Given the description of an element on the screen output the (x, y) to click on. 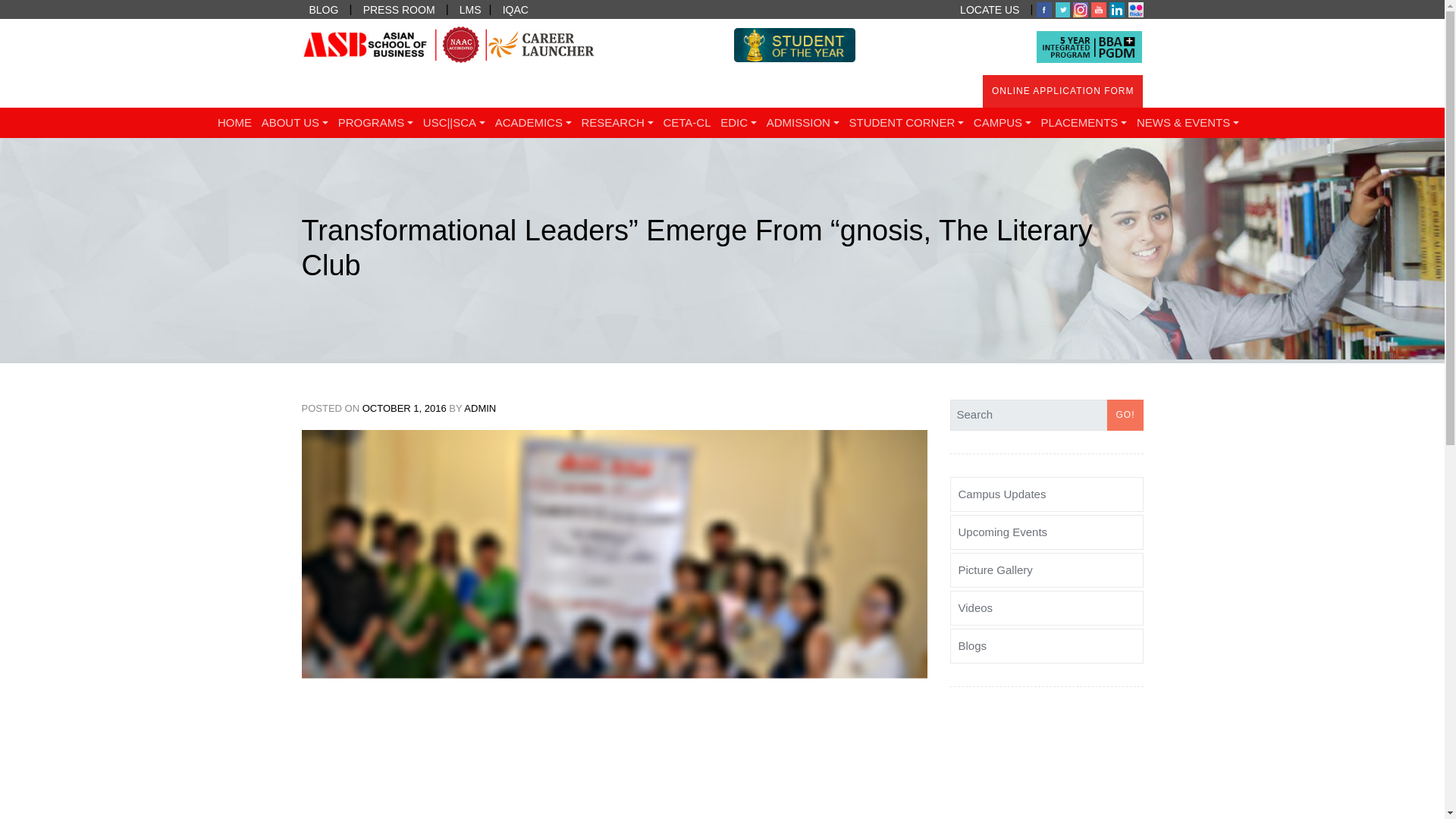
LOCATE US (989, 9)
HOME (234, 122)
Asian School of Business (153, 138)
ONLINE APPLICATION FORM (1062, 91)
About Us (294, 122)
ABOUT US (294, 122)
PRESS ROOM (398, 9)
Home (234, 122)
BLOG (323, 9)
IQAC (515, 9)
LMS (470, 9)
